Given the description of an element on the screen output the (x, y) to click on. 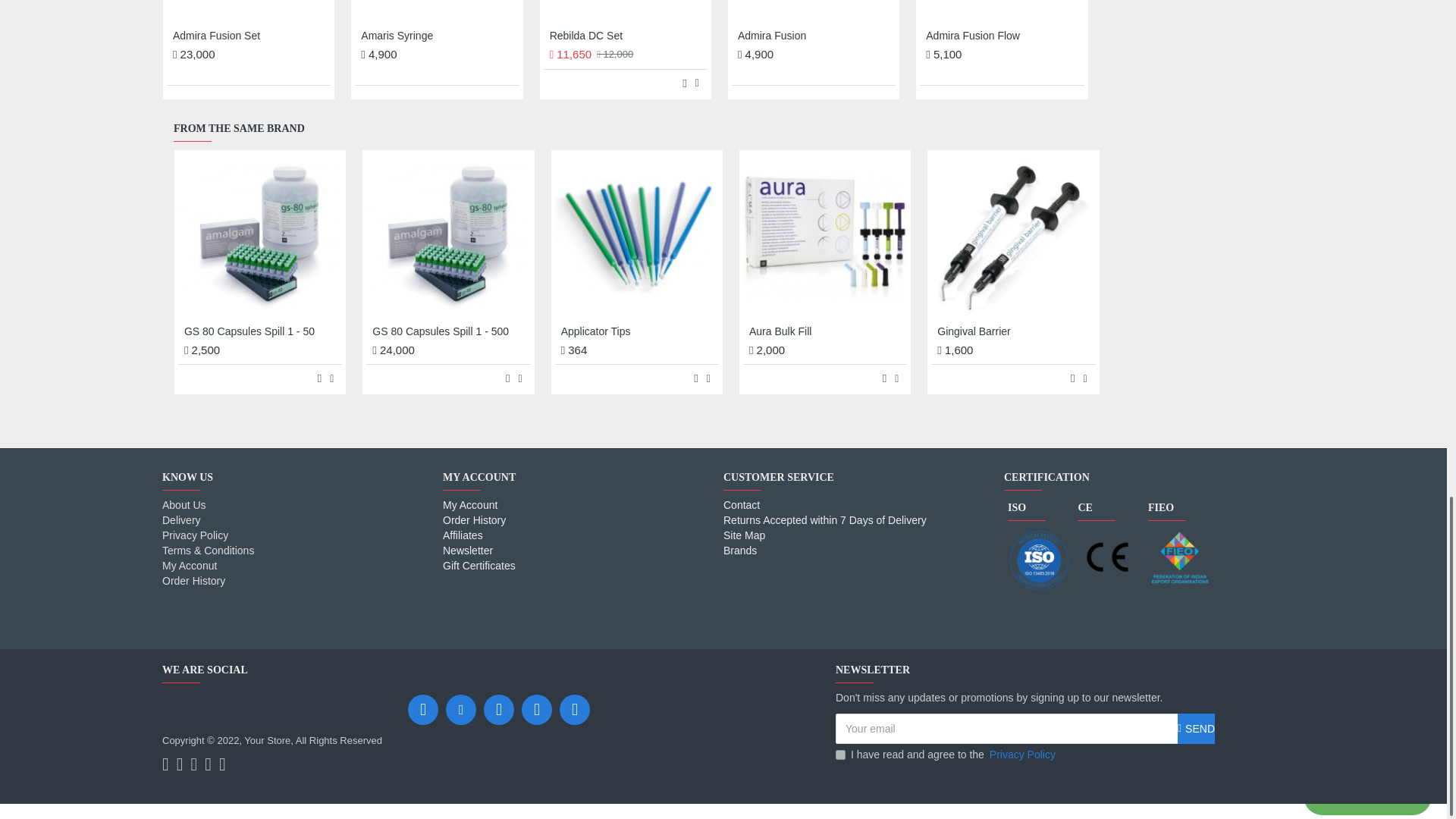
1 (840, 755)
